Given the description of an element on the screen output the (x, y) to click on. 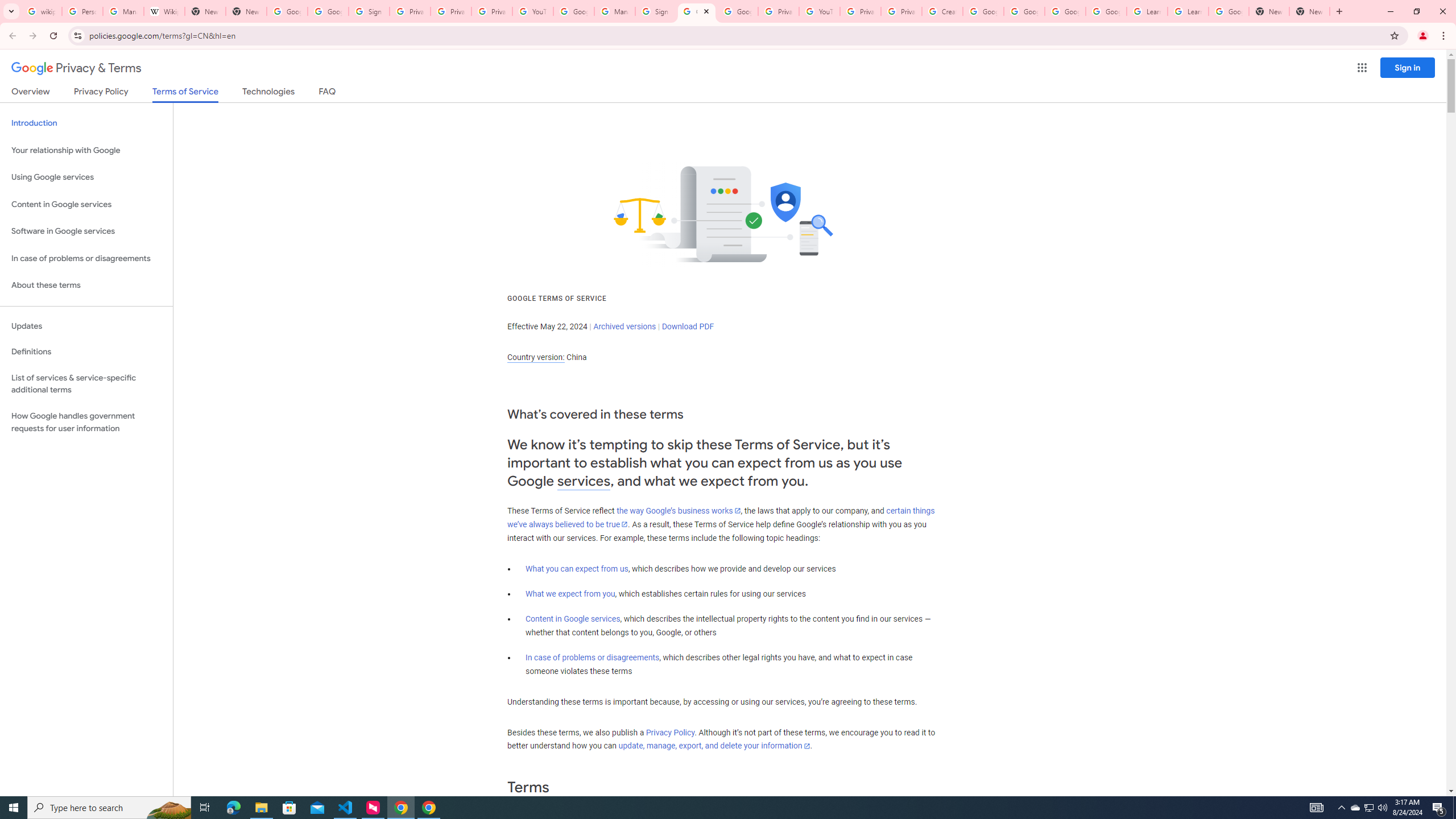
Introduction (86, 122)
Country version: (535, 357)
What we expect from you (570, 593)
Google Account Help (1105, 11)
Sign in (1407, 67)
What you can expect from us (576, 568)
Updates (86, 325)
YouTube (818, 11)
Software in Google services (86, 230)
